Given the description of an element on the screen output the (x, y) to click on. 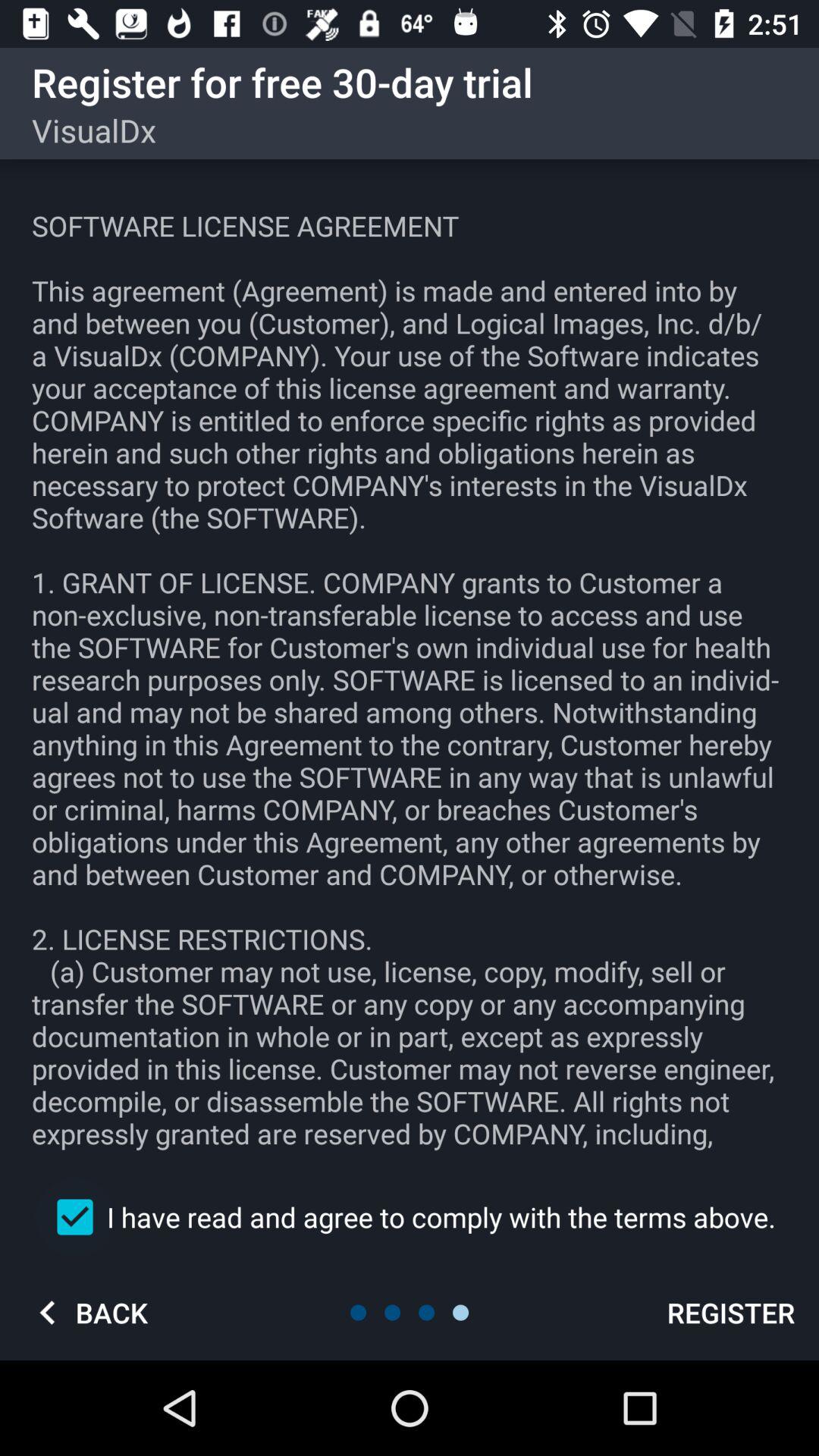
turn off the i have read (409, 1216)
